Given the description of an element on the screen output the (x, y) to click on. 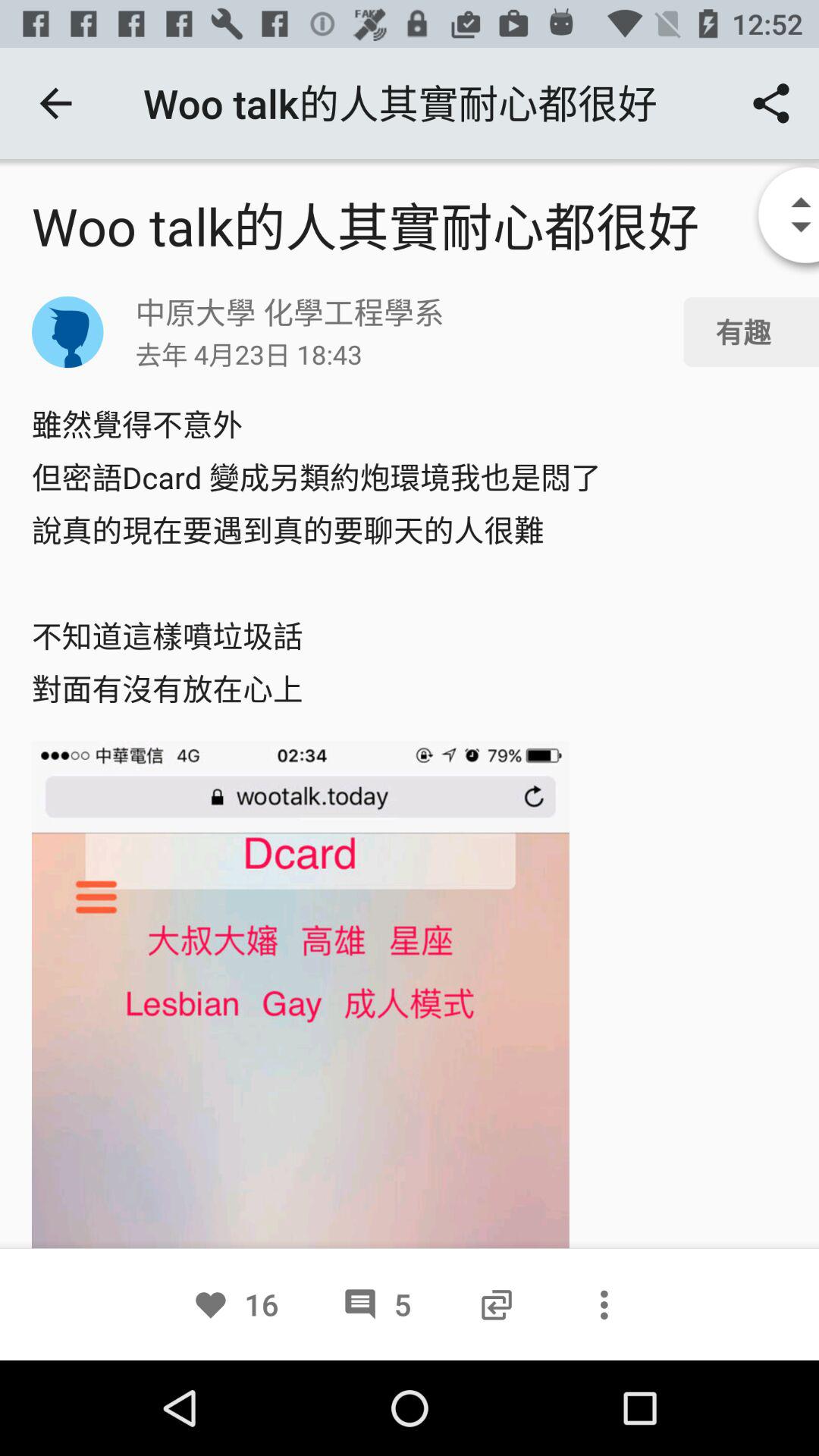
tap the 16 (235, 1304)
